Given the description of an element on the screen output the (x, y) to click on. 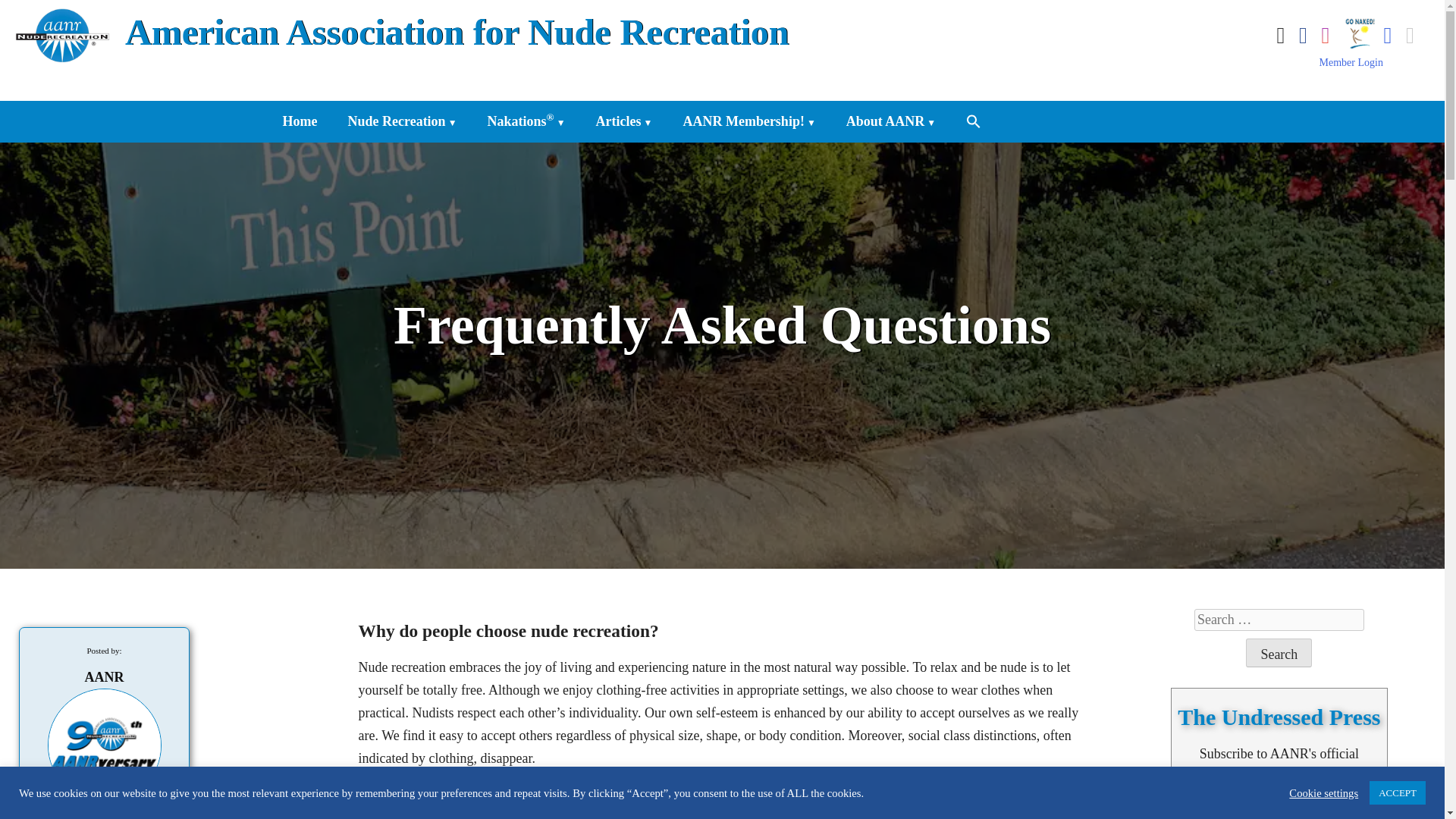
American Association for Nude Recreation (457, 32)
Enter Email (1278, 800)
Nude Recreation (402, 119)
Articles (623, 119)
Subscribe (1278, 818)
Search (1278, 652)
Search (1278, 652)
Home (299, 119)
Member Login (1351, 61)
AANR Membership! (748, 119)
